Given the description of an element on the screen output the (x, y) to click on. 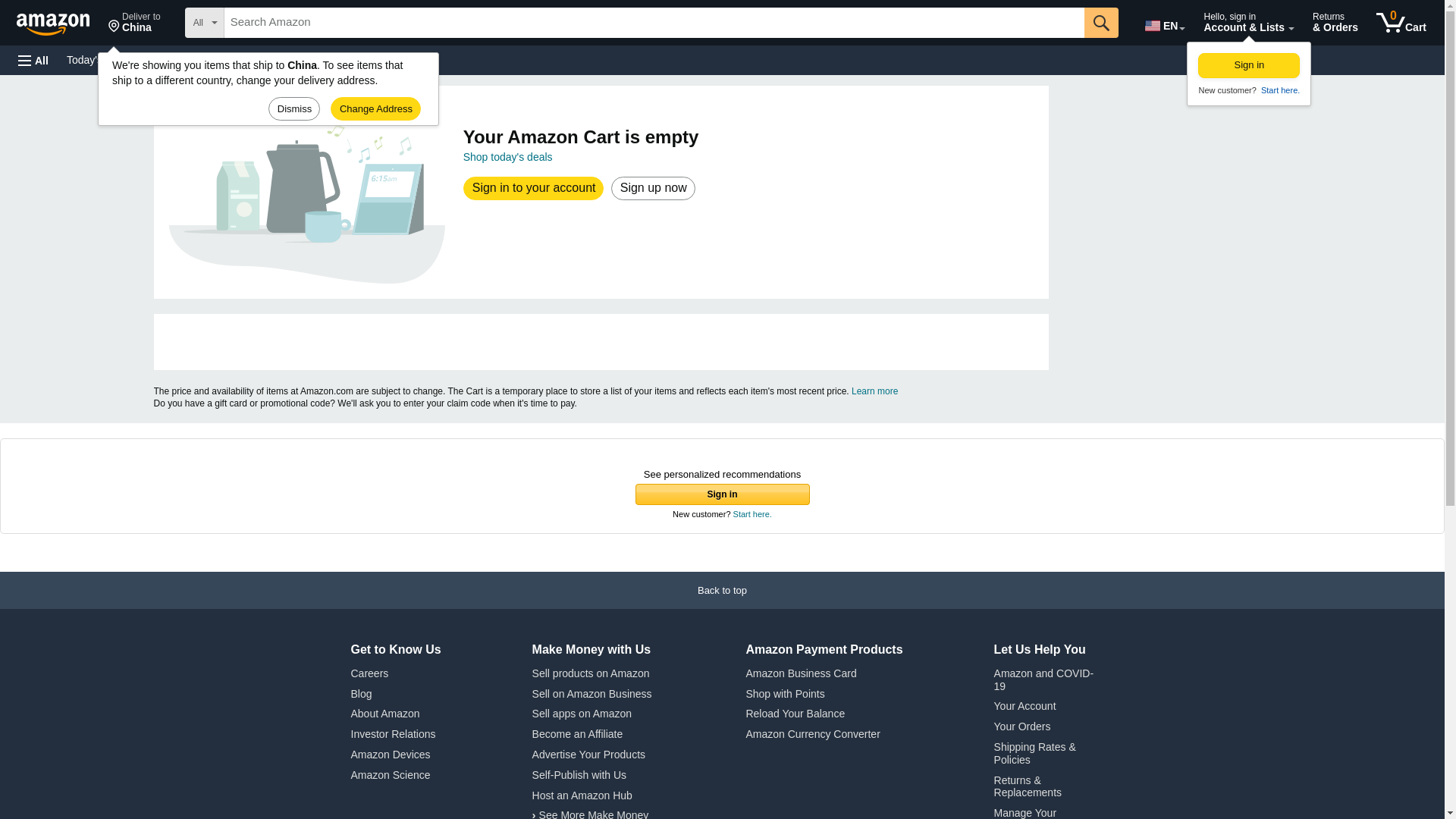
Sell (384, 59)
All (33, 60)
Sign in (1249, 65)
Registry (272, 59)
Sign in to your account (534, 188)
Today's Deals (99, 59)
Gift Cards (333, 59)
Customer Service (192, 59)
Skip to main content (1401, 22)
